Given the description of an element on the screen output the (x, y) to click on. 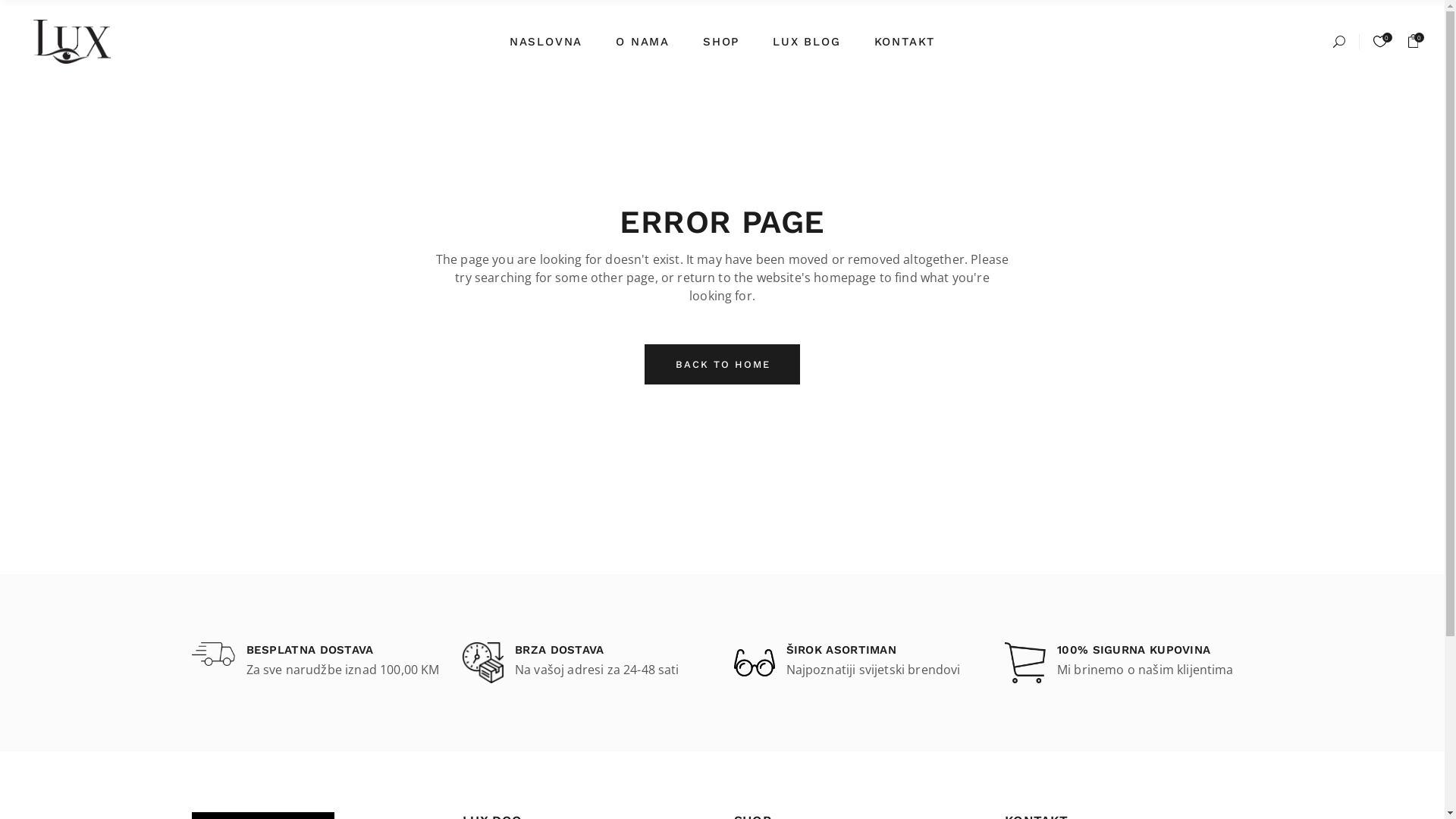
0 Element type: text (1379, 41)
0 Element type: text (1412, 41)
SHOP Element type: text (720, 41)
KONTAKT Element type: text (904, 41)
BESPLATNA DOSTAVA Element type: text (342, 650)
BACK TO HOME Element type: text (721, 364)
LUX BLOG Element type: text (806, 41)
O NAMA Element type: text (642, 41)
100% SIGURNA KUPOVINA Element type: text (1155, 650)
NASLOVNA Element type: text (545, 41)
BRZA DOSTAVA Element type: text (612, 650)
